Given the description of an element on the screen output the (x, y) to click on. 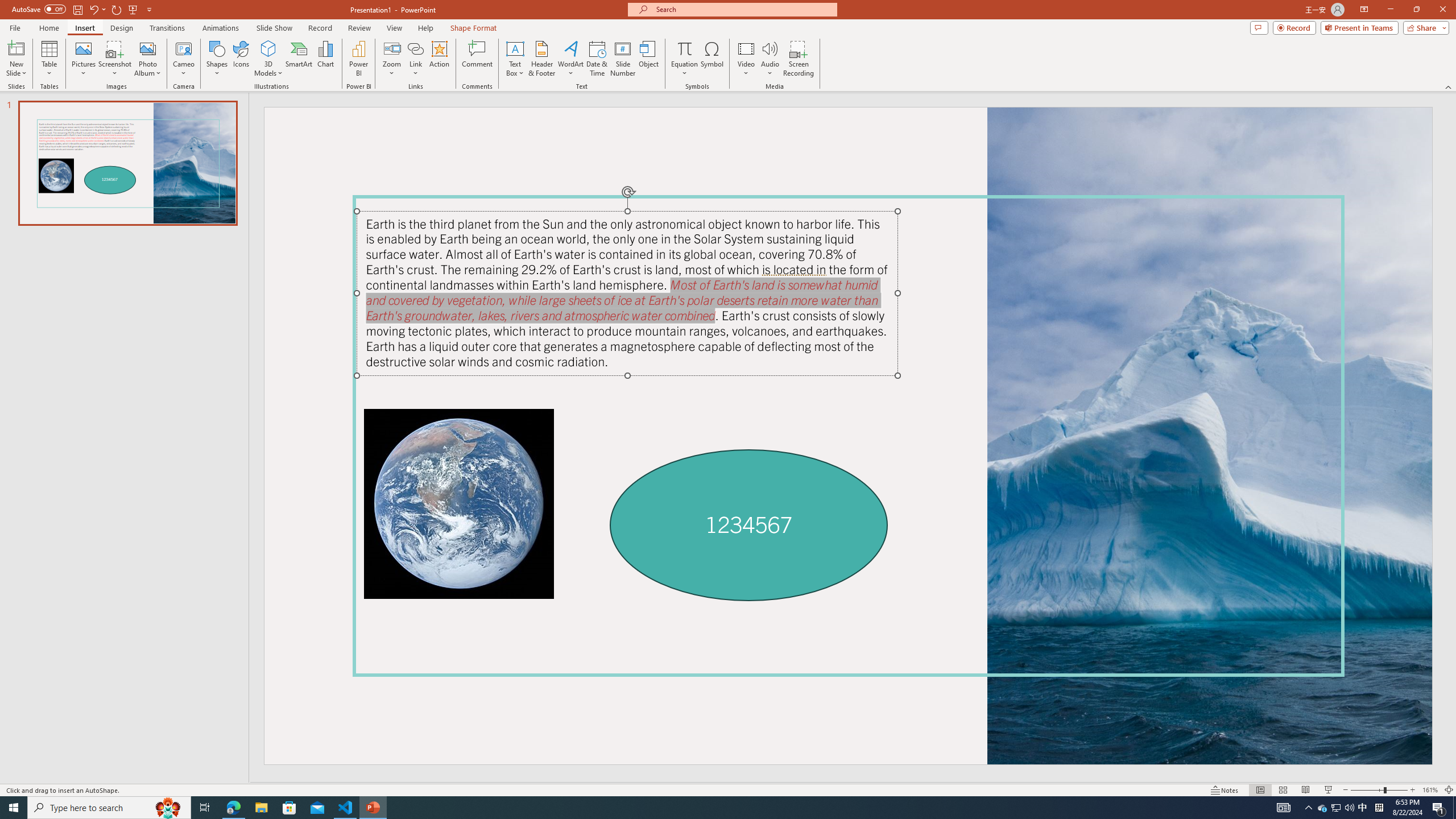
Draw Horizontal Text Box (515, 48)
WordArt (570, 58)
SmartArt... (298, 58)
